Given the description of an element on the screen output the (x, y) to click on. 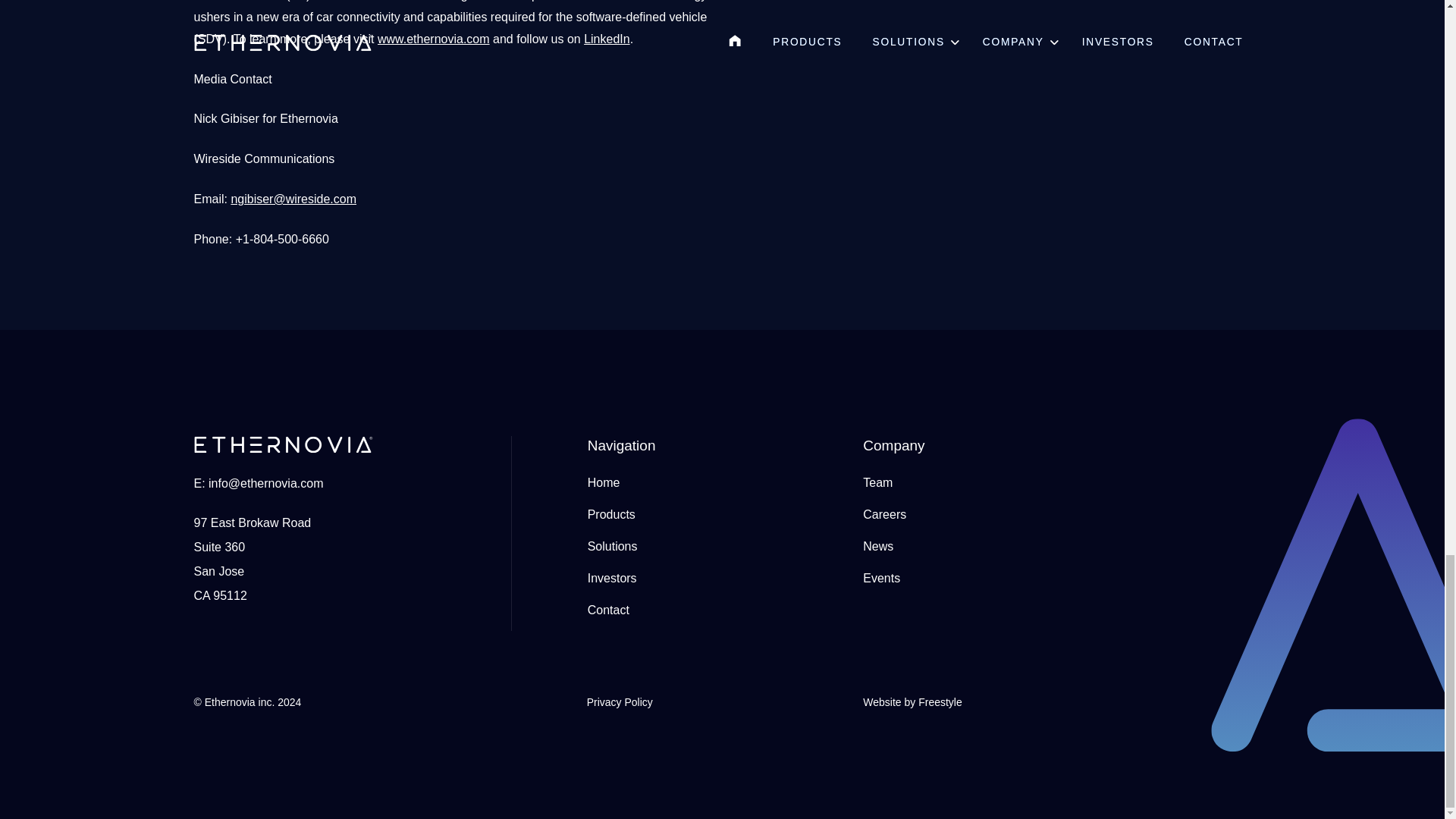
Team (877, 481)
Ethernovia (240, 702)
Products (611, 513)
Contact (608, 609)
www.ethernovia.com (433, 38)
LinkedIn (606, 38)
Investors (612, 577)
Solutions (612, 545)
Home (604, 481)
